Given the description of an element on the screen output the (x, y) to click on. 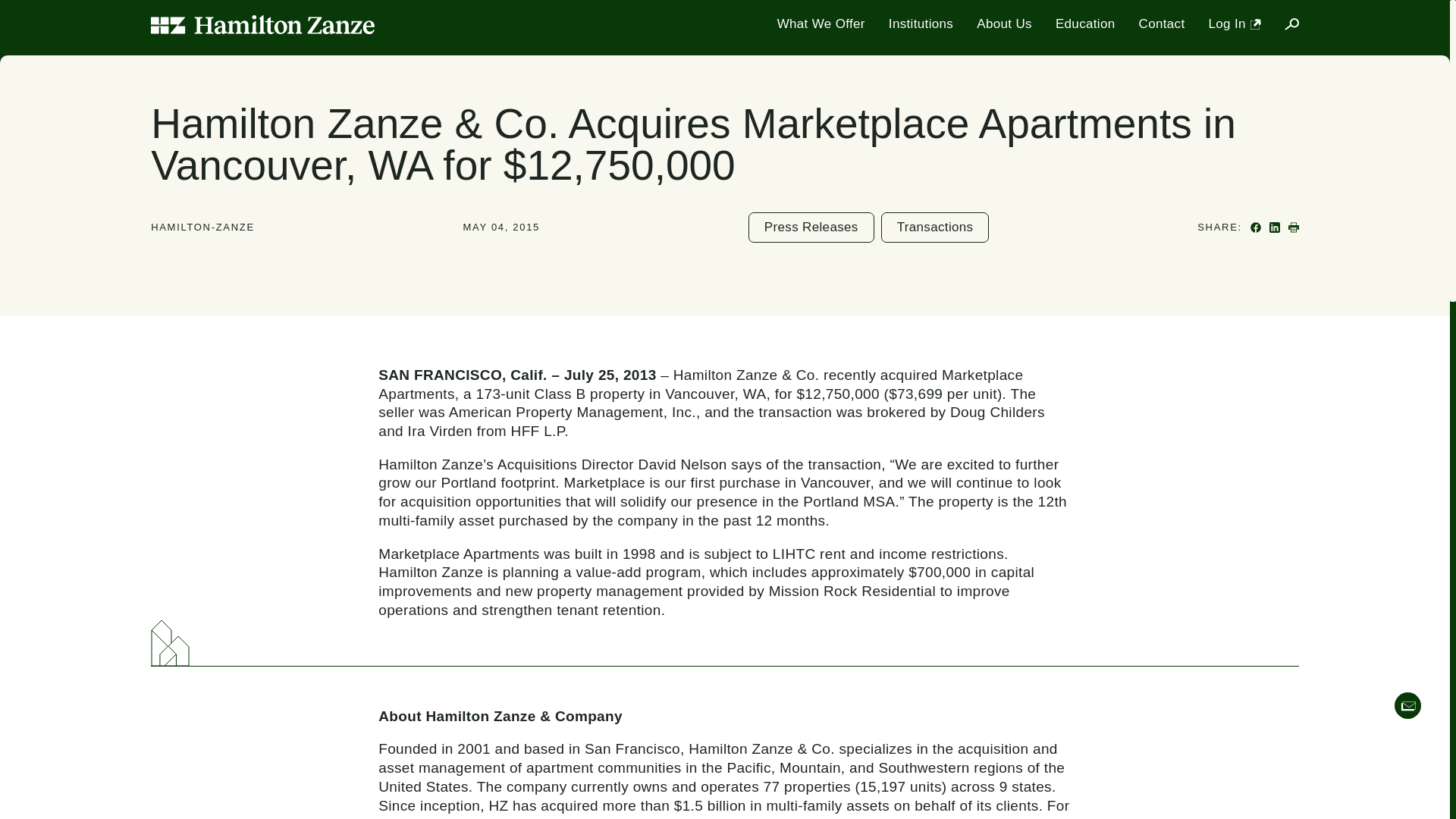
Go to page - Contact Us (1407, 705)
What We Offer (820, 24)
About Us (1004, 24)
Institutions (920, 24)
Log In (1234, 24)
Contact (1161, 24)
Education (1085, 24)
Logo (262, 24)
